Given the description of an element on the screen output the (x, y) to click on. 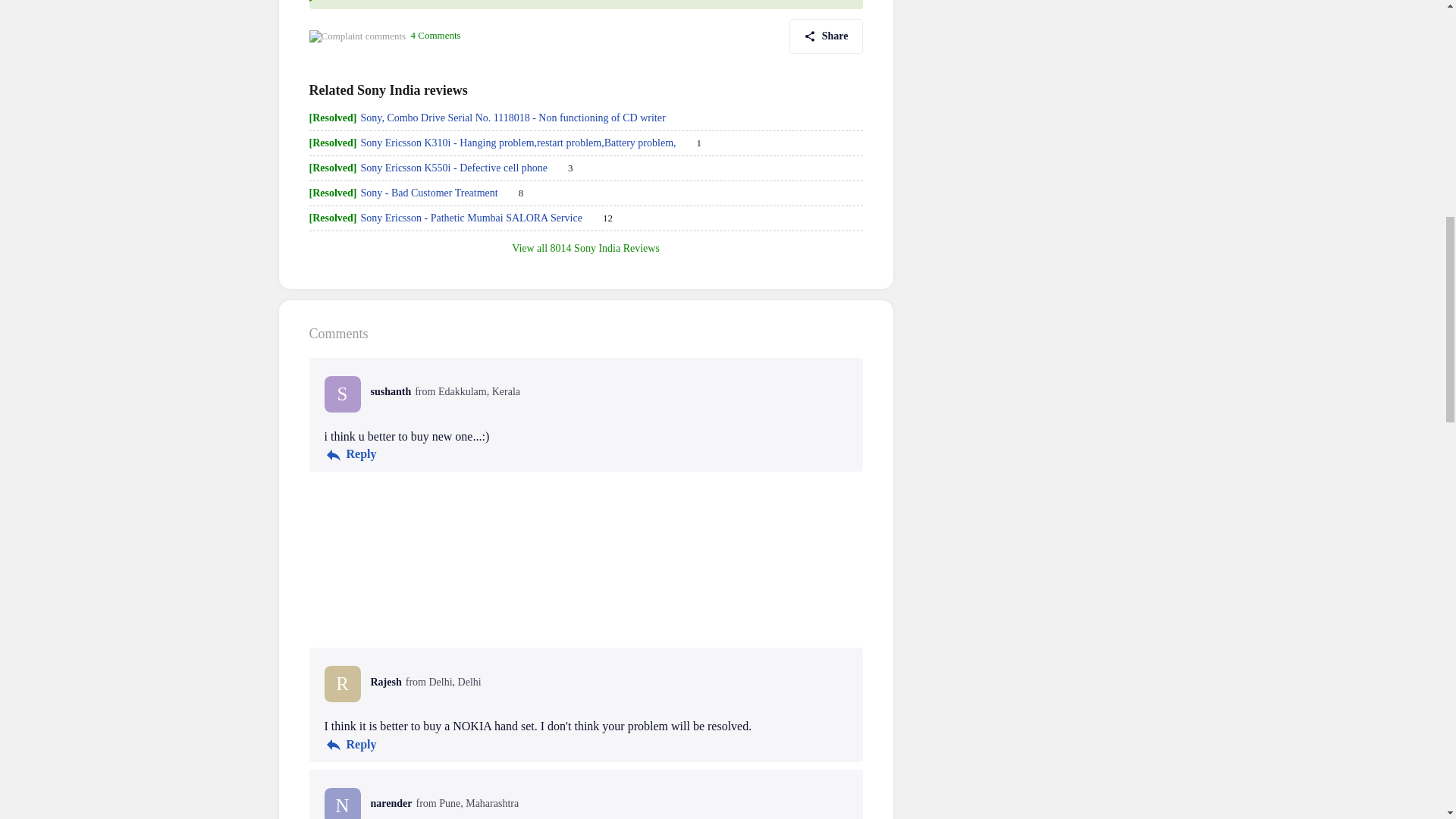
Reply (350, 454)
Reply (350, 744)
Complaint comments (357, 36)
8014 Sony India Reviews (604, 247)
